Given the description of an element on the screen output the (x, y) to click on. 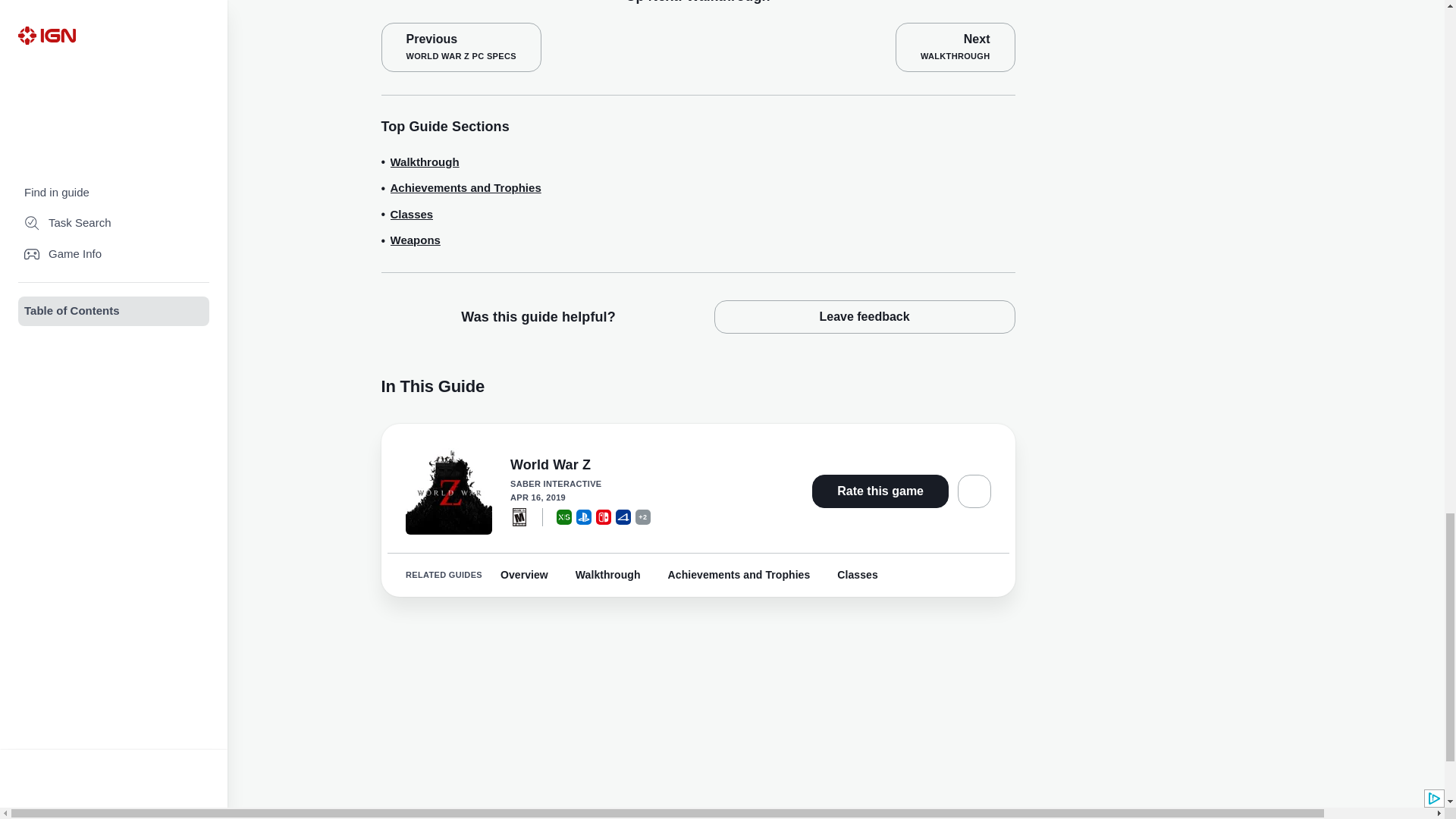
PlayStation 4 (622, 516)
World War Z (641, 466)
SABER INTERACTIVE (641, 483)
PlayStation 5 (583, 516)
Achievements and Trophies (465, 188)
Nintendo Switch (603, 516)
Leave feedback (864, 316)
Classes (411, 214)
Nintendo Switch (603, 516)
ESRB: Mature (518, 516)
